Given the description of an element on the screen output the (x, y) to click on. 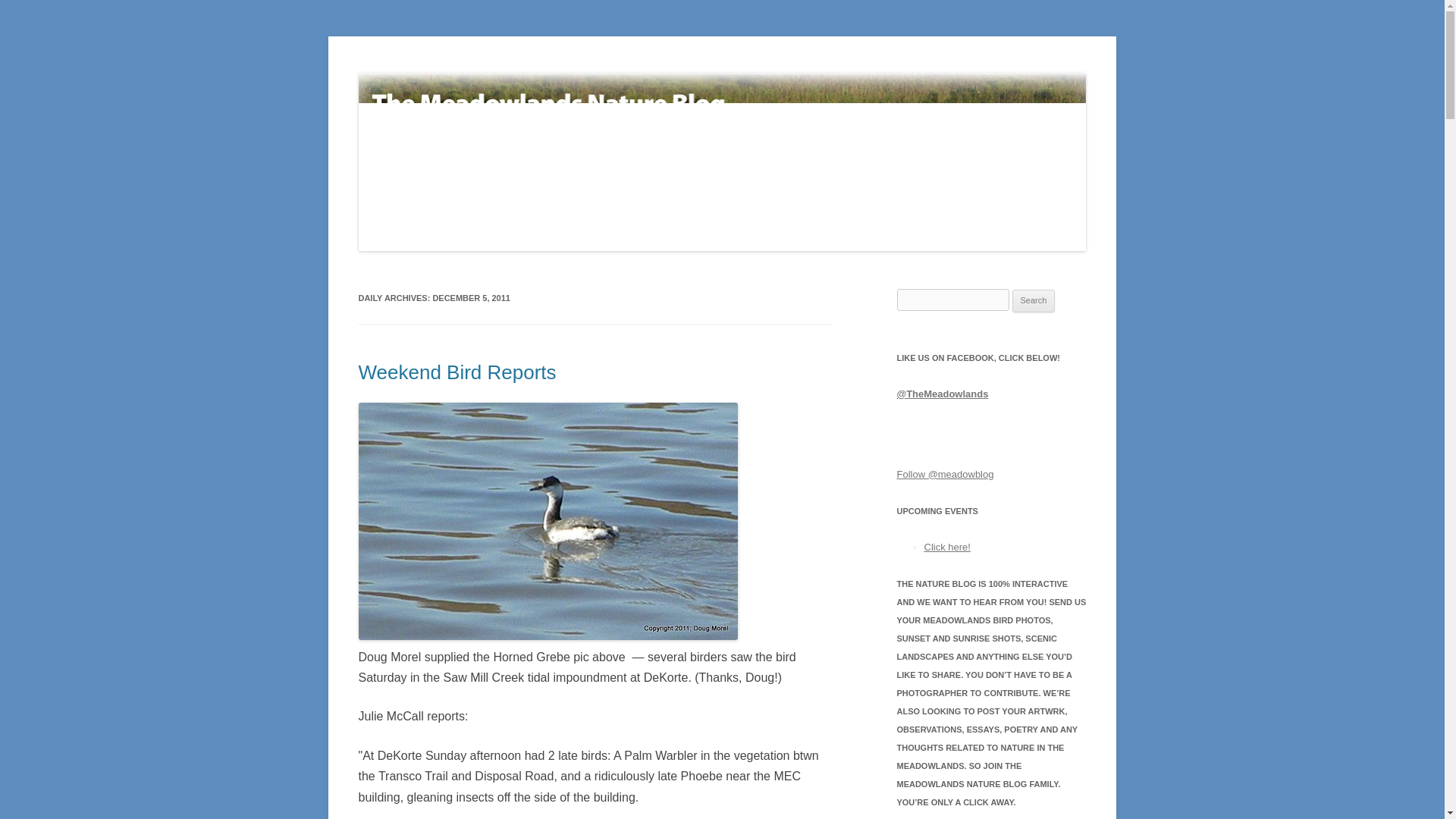
Click here! (946, 546)
The Meadowlands Nature Blog (501, 72)
The Meadowlands Nature Blog (501, 72)
Permalink to Weekend Bird Reports (457, 372)
2011 Birds 022 (547, 520)
Search (1033, 300)
Search (1033, 300)
Weekend Bird Reports (457, 372)
